Given the description of an element on the screen output the (x, y) to click on. 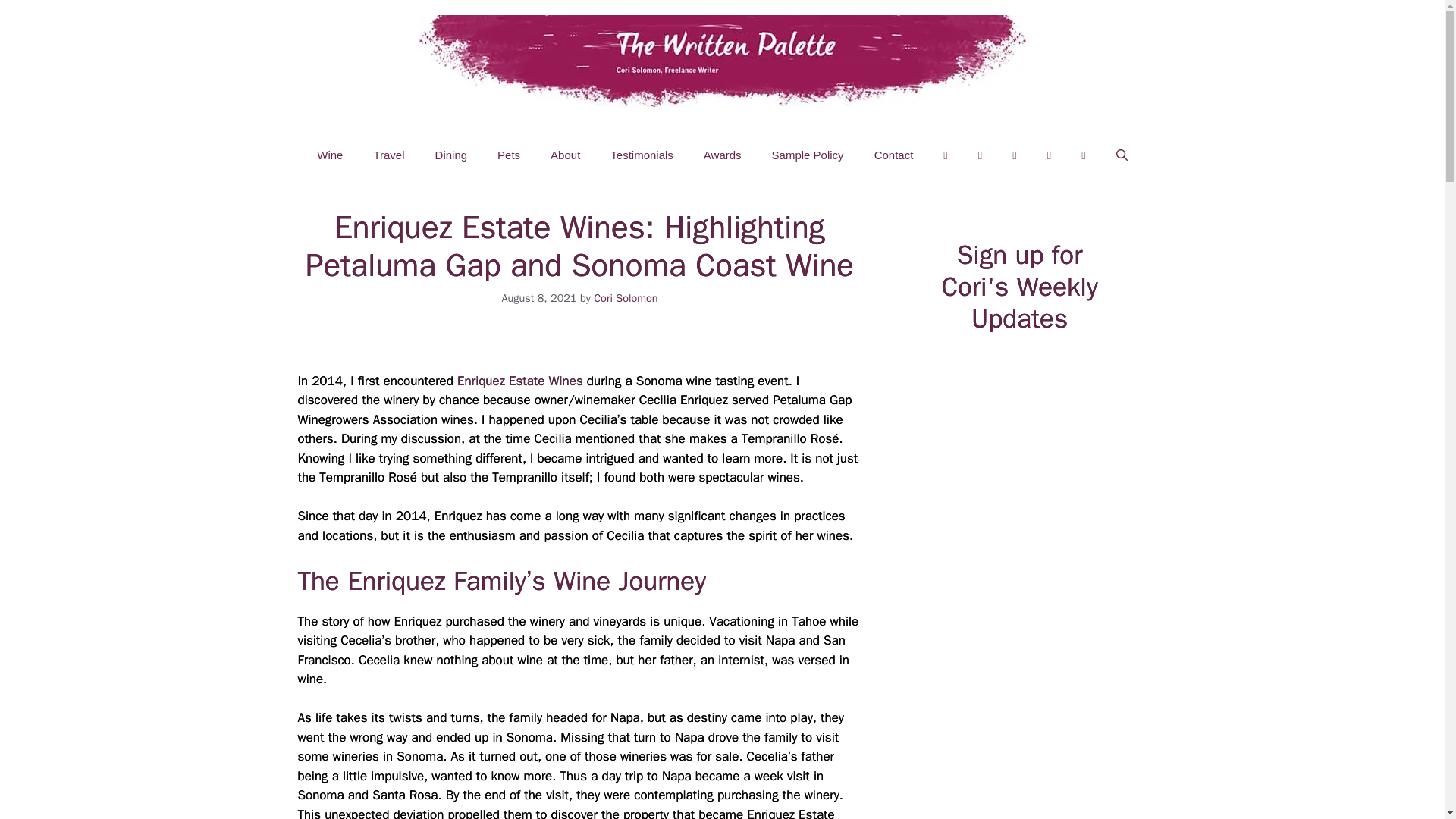
Wine (329, 155)
Awards (722, 155)
About (565, 155)
Travel (388, 155)
Travel Articles (388, 155)
About Cori (565, 155)
Contact (893, 155)
Cori Solomon (626, 297)
Dining (451, 155)
View all posts by Cori Solomon (626, 297)
Sample Policy (808, 155)
Pet Articles (508, 155)
Enriquez Estate Wines (520, 381)
Testimonials (641, 155)
Epicurean (451, 155)
